Given the description of an element on the screen output the (x, y) to click on. 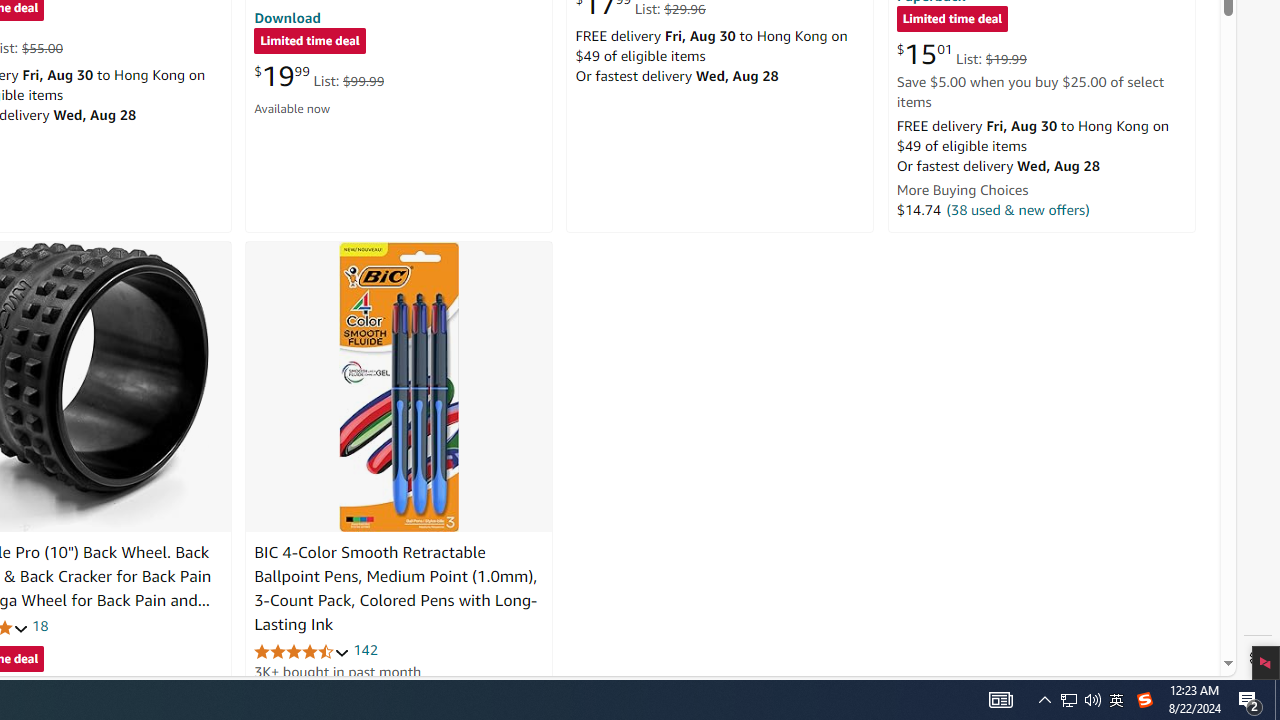
$15.01 List: $19.99 (961, 54)
4.6 out of 5 stars (301, 650)
Download (287, 17)
Limited time deal (952, 20)
(38 used & new offers) (1017, 209)
18 (40, 625)
142 (365, 650)
$19.99 List: $99.99 (319, 76)
